Given the description of an element on the screen output the (x, y) to click on. 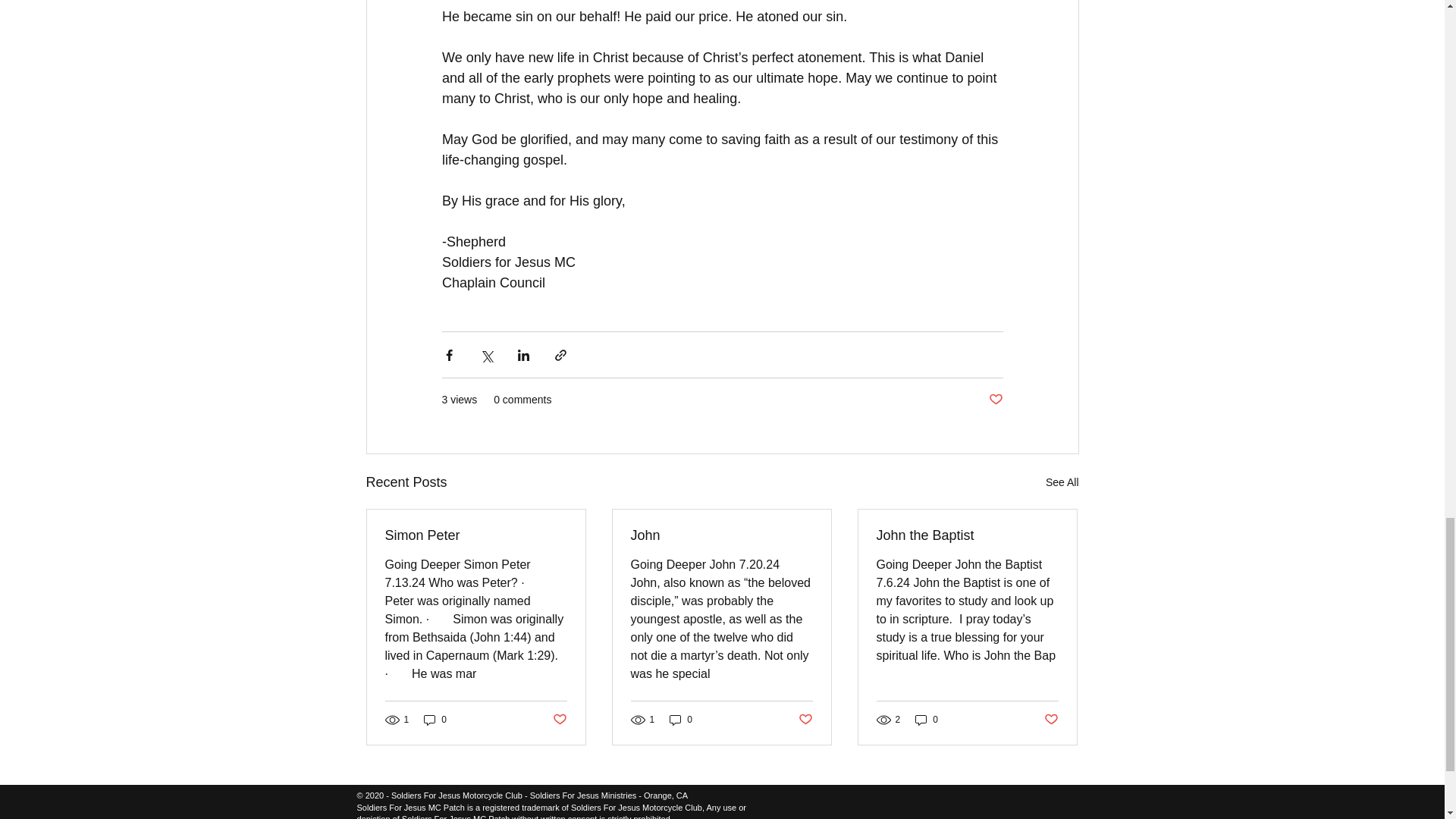
Post not marked as liked (1050, 719)
John the Baptist (967, 535)
Post not marked as liked (558, 719)
0 (435, 719)
0 (681, 719)
Simon Peter (476, 535)
0 (926, 719)
See All (1061, 482)
Post not marked as liked (995, 399)
John (721, 535)
Post not marked as liked (804, 719)
